Given the description of an element on the screen output the (x, y) to click on. 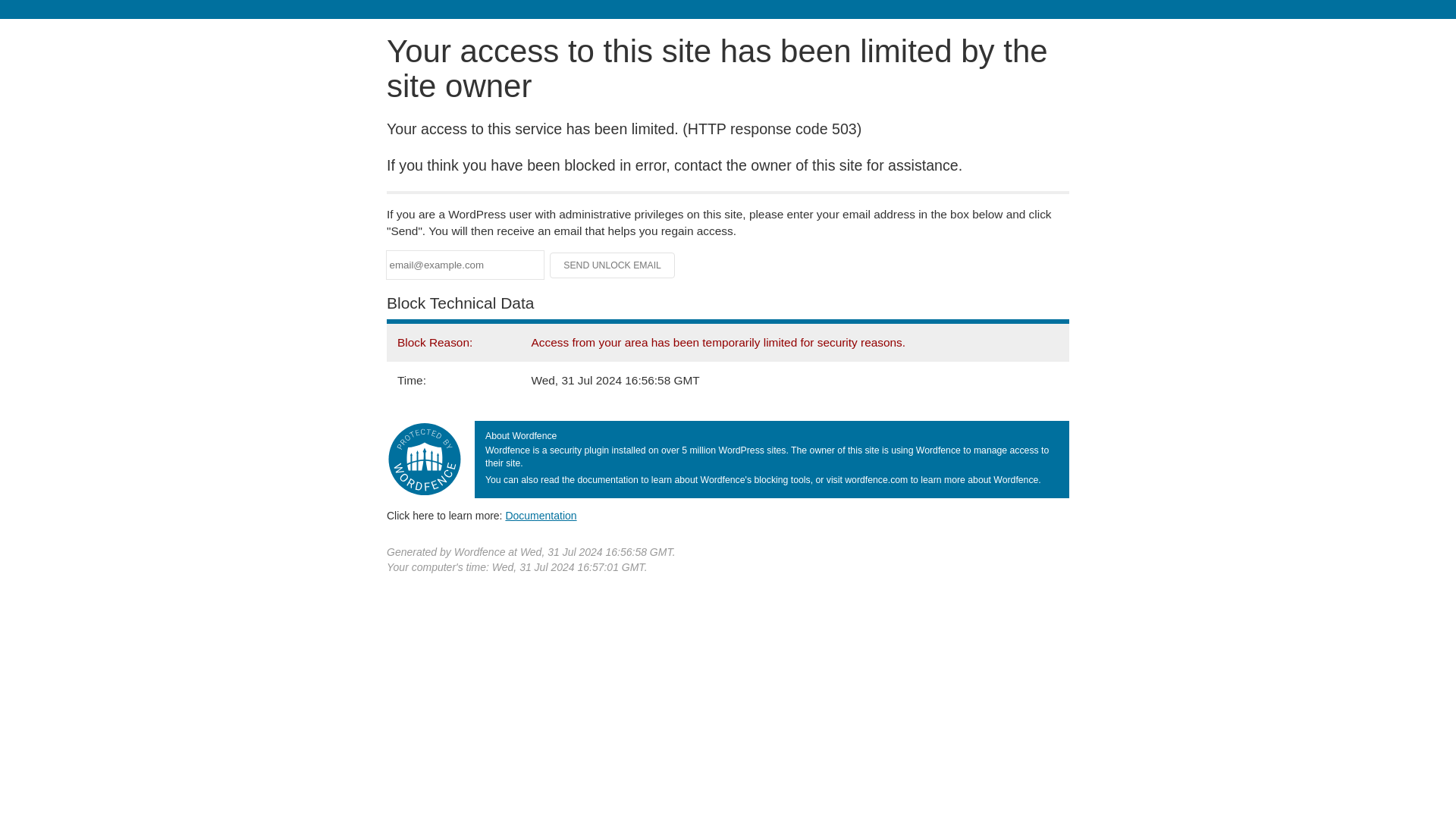
Send Unlock Email (612, 265)
Send Unlock Email (612, 265)
Documentation (540, 515)
